Given the description of an element on the screen output the (x, y) to click on. 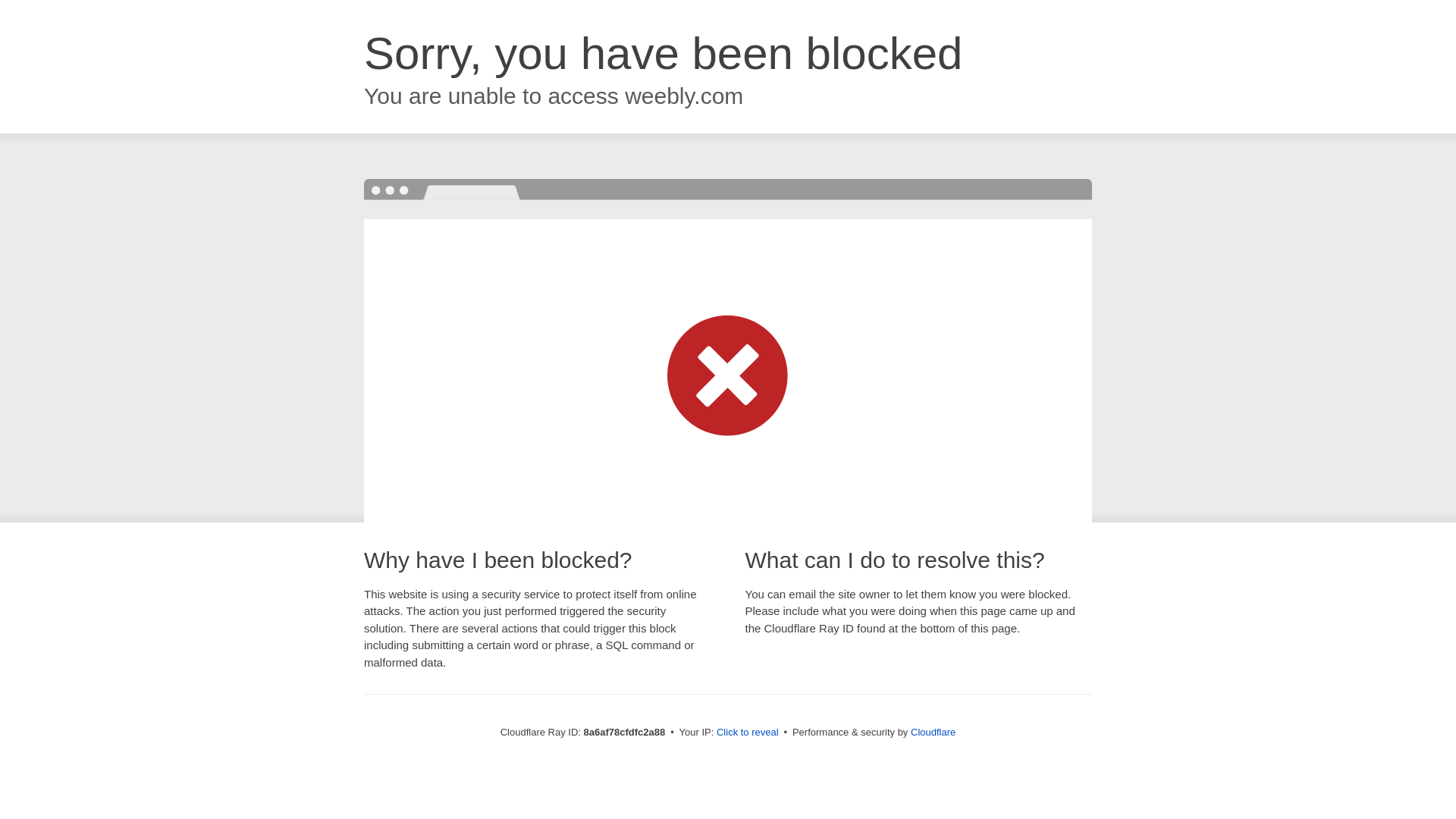
Click to reveal (747, 732)
Cloudflare (933, 731)
